Given the description of an element on the screen output the (x, y) to click on. 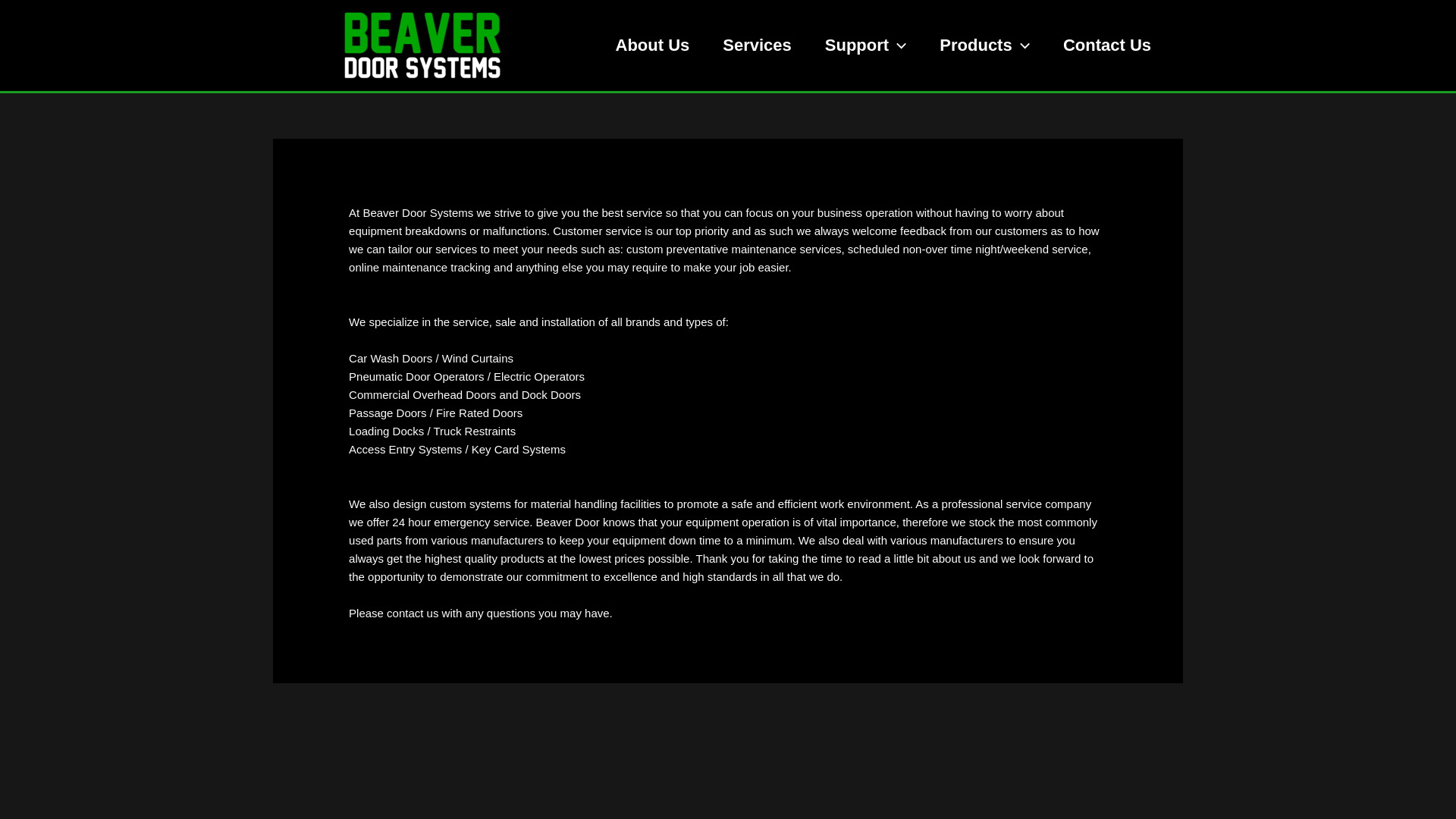
Services Element type: text (757, 45)
Support Element type: text (865, 45)
About Us Element type: text (652, 45)
Contact Us Element type: text (1106, 45)
Products Element type: text (984, 45)
